Given the description of an element on the screen output the (x, y) to click on. 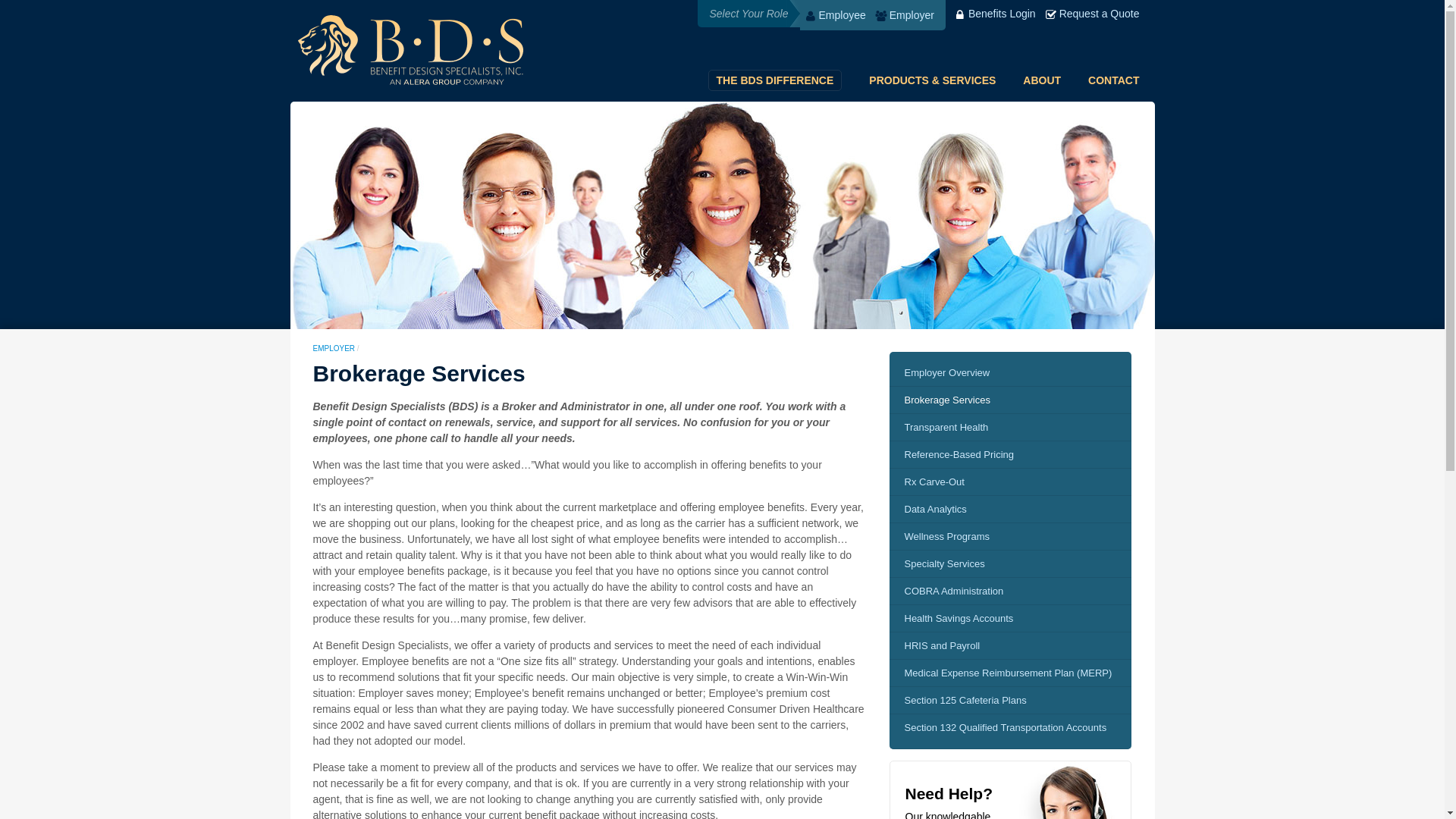
ABOUT (1042, 80)
EMPLOYER (334, 347)
CONTACT (1112, 80)
Employer Overview (1009, 369)
Employee (833, 15)
THE BDS DIFFERENCE (775, 79)
Employer (904, 15)
Request a Quote (1092, 13)
Benefits Login (994, 13)
